Given the description of an element on the screen output the (x, y) to click on. 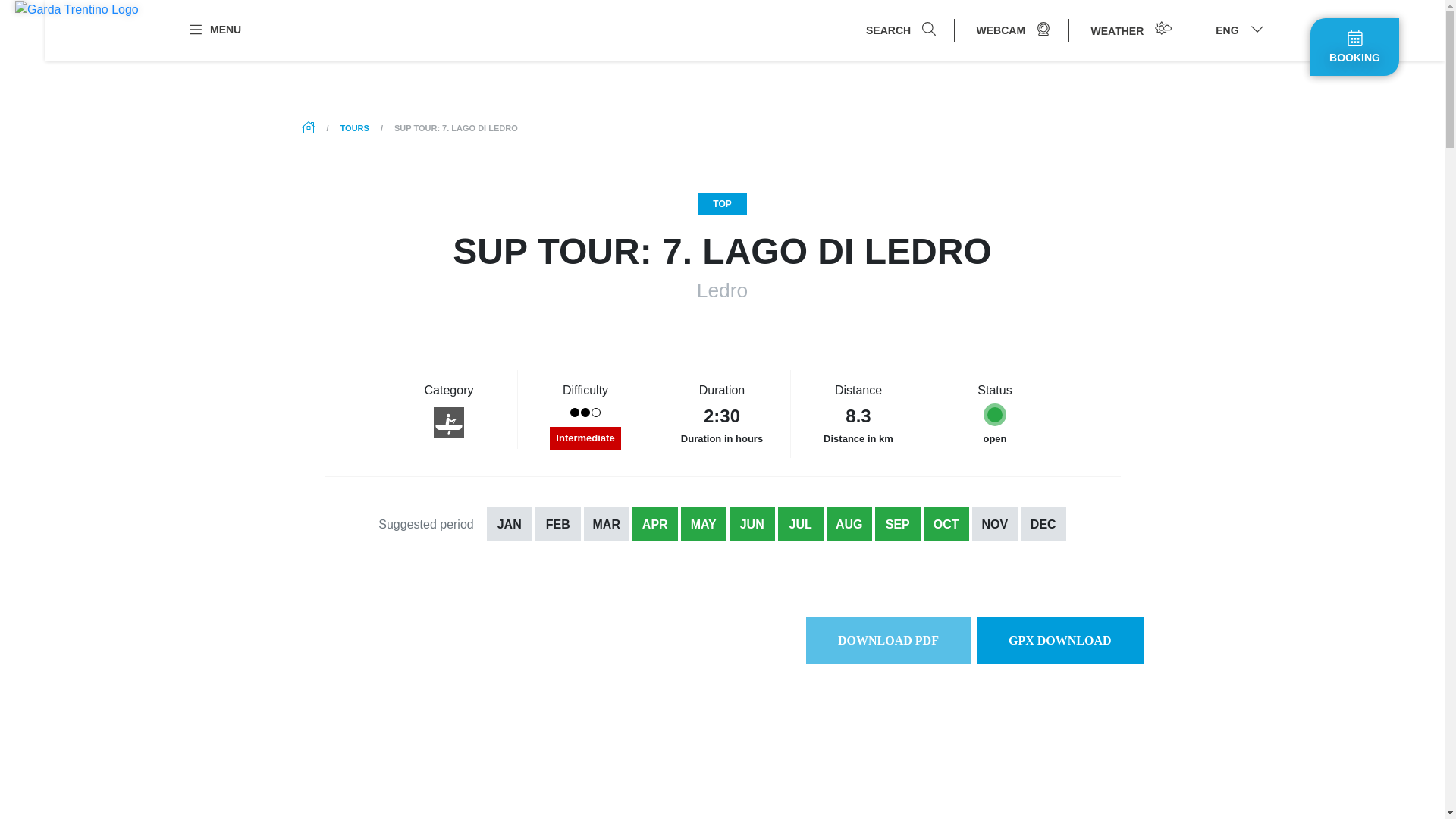
BOOKING (1354, 47)
tours (354, 127)
MENU (214, 29)
TOURS (354, 127)
WEATHER (1132, 30)
GPX DOWNLOAD (1059, 640)
WEBCAM (1013, 29)
ENG (1238, 29)
DOWNLOAD PDF (888, 640)
SUP TOUR: 7. Lago di Ledro (456, 127)
